Given the description of an element on the screen output the (x, y) to click on. 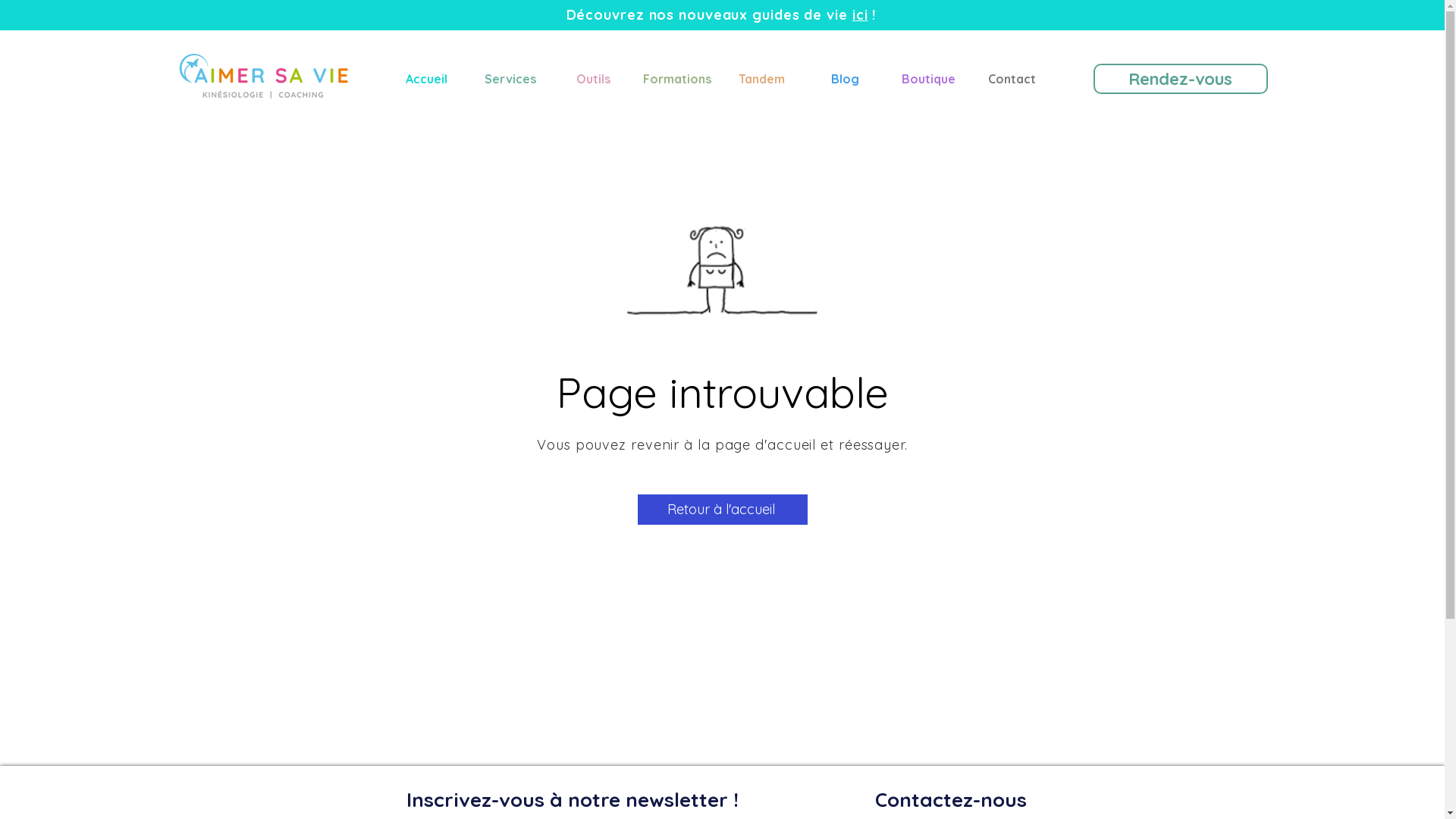
Formations Element type: text (676, 78)
Boutique Element type: text (928, 78)
Blog Element type: text (845, 78)
ici Element type: text (860, 14)
Contact Element type: text (1012, 78)
Services Element type: text (510, 78)
section_problemesxxxxxxxx.png Element type: hover (722, 273)
Rendez-vous Element type: text (1180, 78)
Outils Element type: text (593, 78)
Tandem Element type: text (761, 78)
Accueil Element type: text (426, 78)
